Given the description of an element on the screen output the (x, y) to click on. 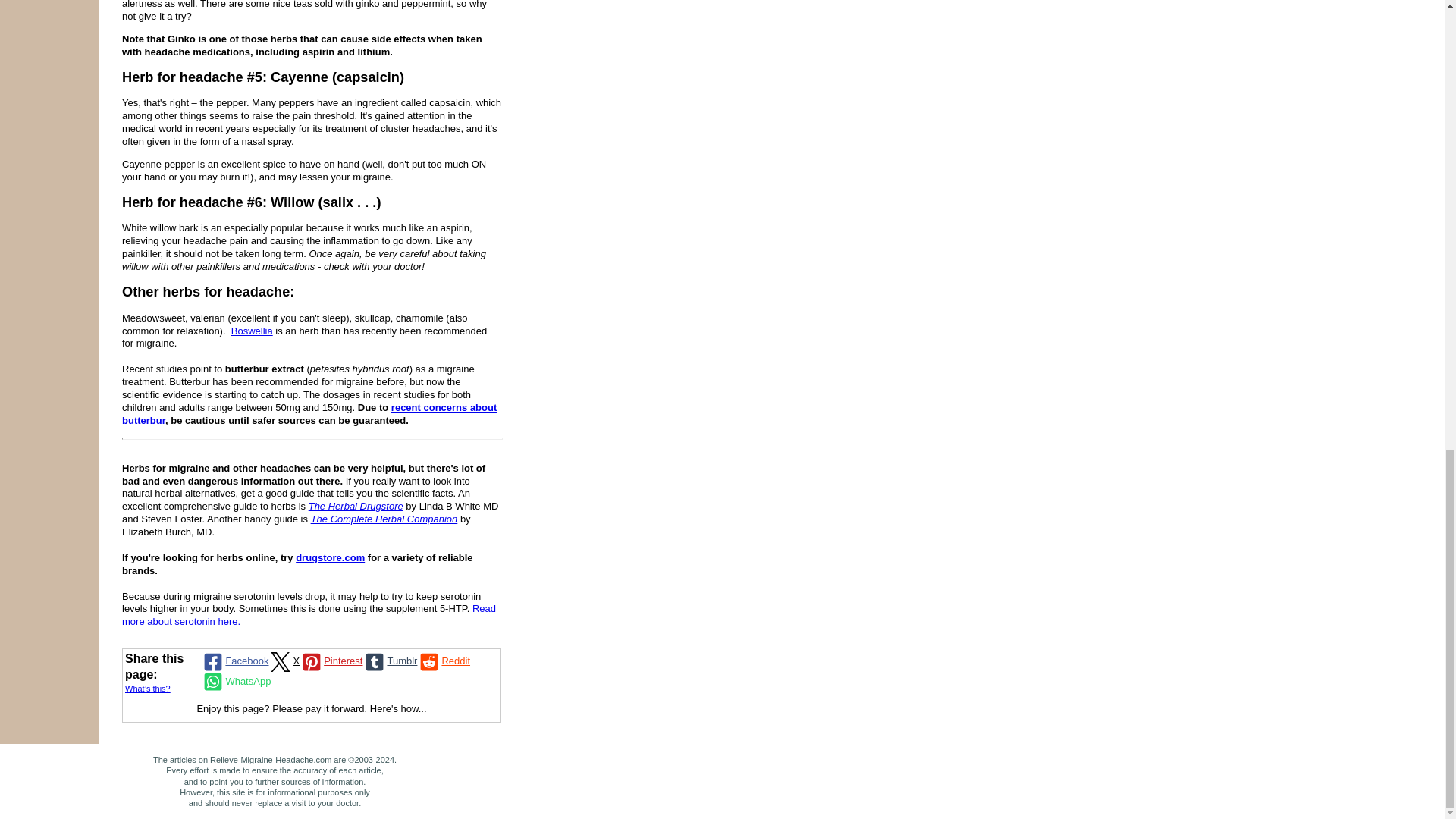
The Herbal Drugstore (355, 505)
Read more about serotonin here. (309, 614)
Reddit (443, 661)
The Complete Herbal Companion (384, 518)
Tumblr (389, 661)
Pinterest (330, 661)
WhatsApp (235, 681)
X (283, 661)
Facebook (233, 661)
recent concerns about butterbur (309, 413)
drugstore.com (330, 557)
Boswellia (252, 330)
